Given the description of an element on the screen output the (x, y) to click on. 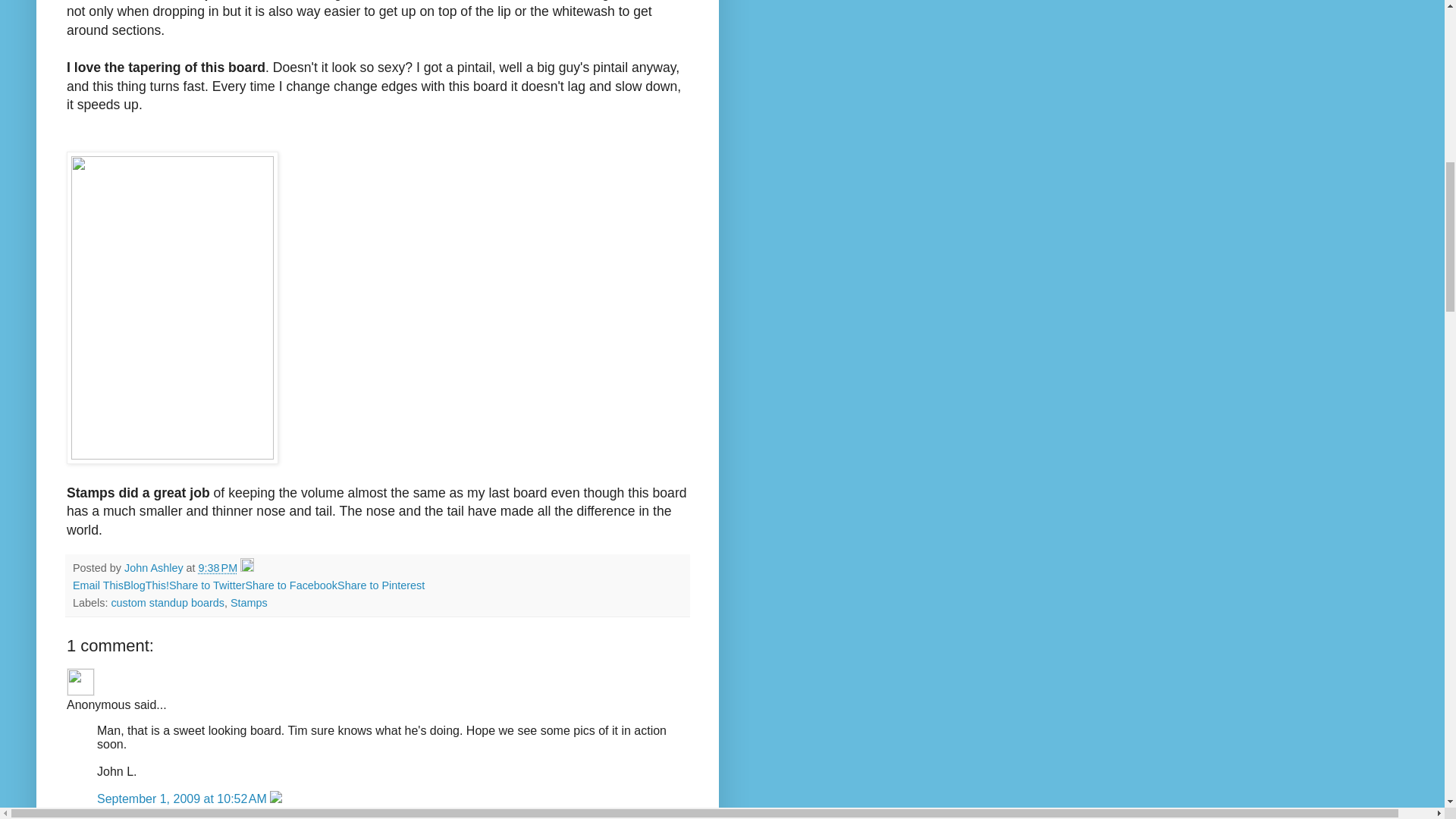
Anonymous (80, 682)
BlogThis! (145, 585)
BlogThis! (145, 585)
Share to Pinterest (381, 585)
Email This (97, 585)
Share to Pinterest (381, 585)
Share to Facebook (290, 585)
Share to Twitter (207, 585)
permanent link (218, 567)
Share to Twitter (207, 585)
comment permalink (183, 798)
author profile (154, 567)
Delete Comment (275, 798)
